Given the description of an element on the screen output the (x, y) to click on. 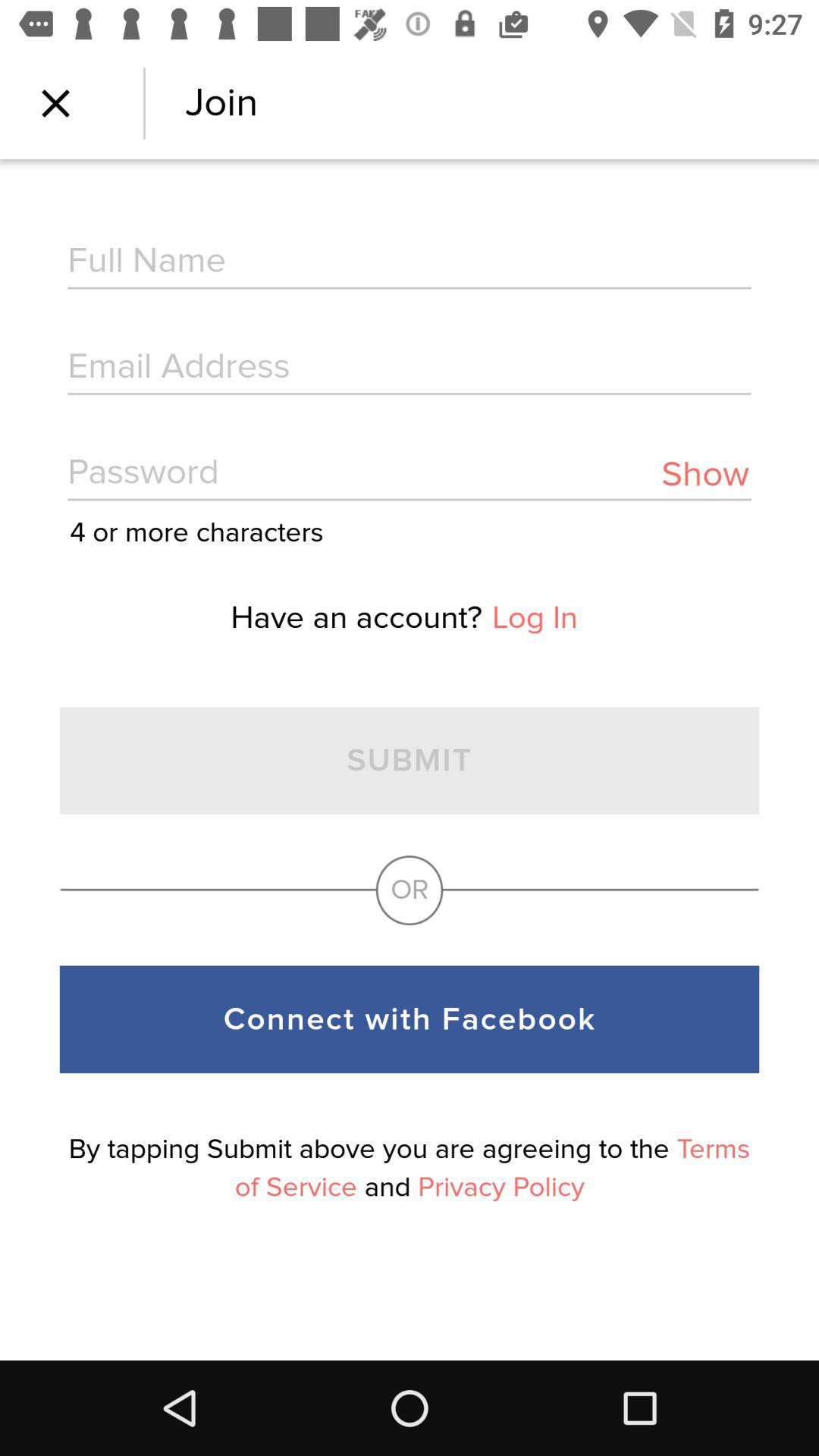
launch icon above or item (705, 474)
